Given the description of an element on the screen output the (x, y) to click on. 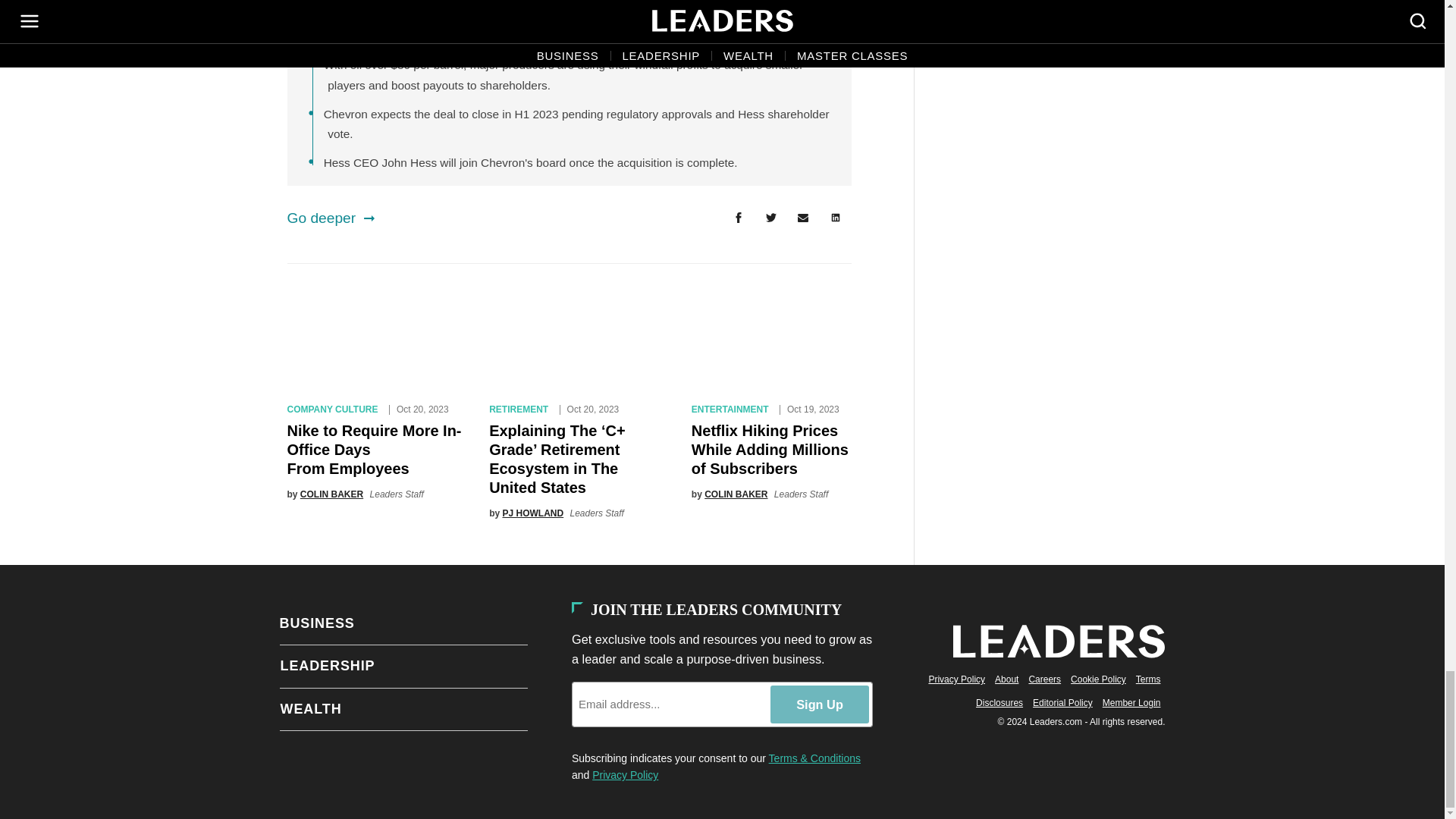
Sign Up (819, 704)
Share on Twitter (770, 218)
Share on Facebook (738, 218)
Share on LinkedIn (835, 218)
Share via Email (803, 218)
